Given the description of an element on the screen output the (x, y) to click on. 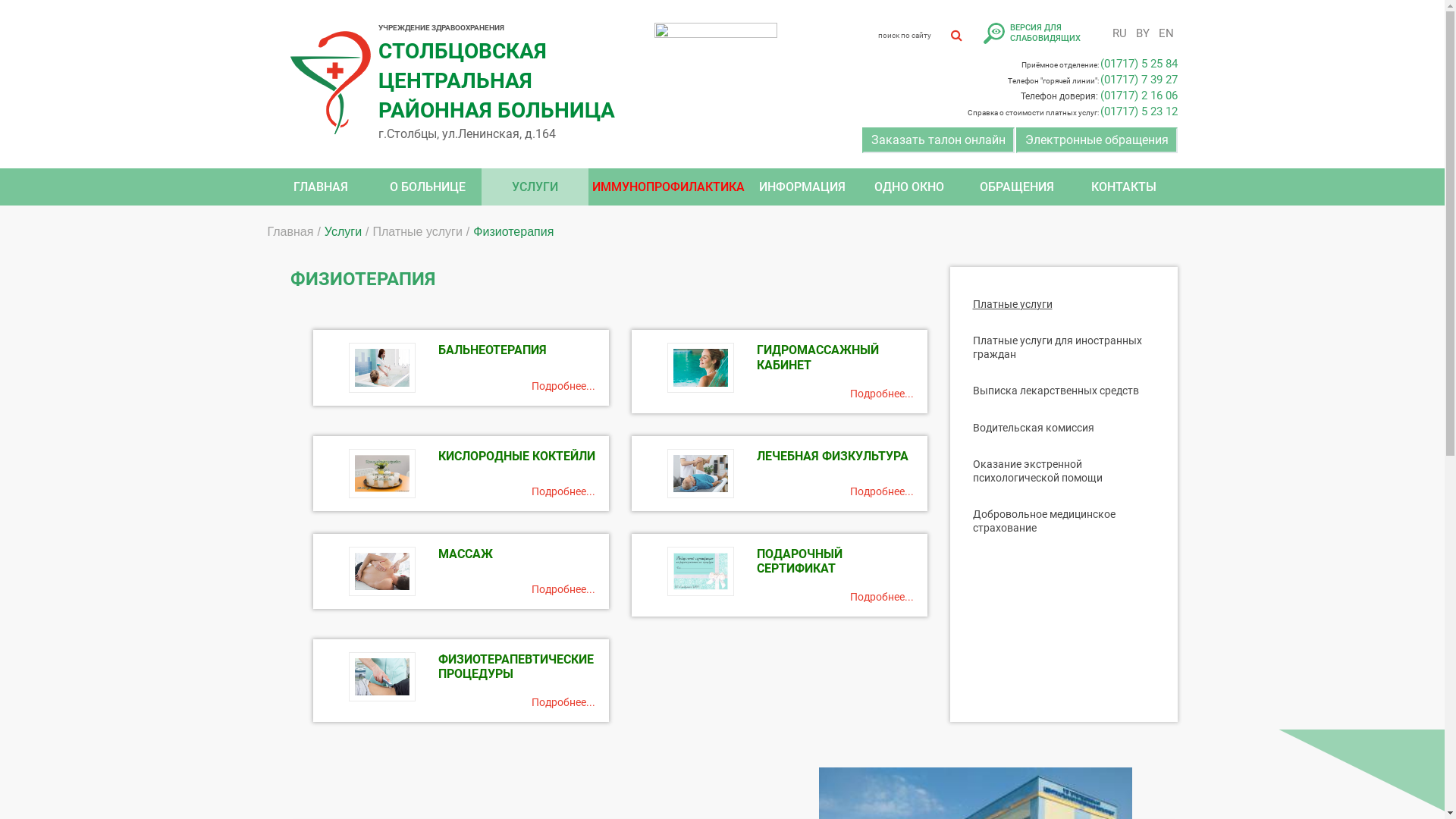
EN Element type: text (1165, 32)
BY Element type: text (1141, 32)
RU Element type: text (1119, 32)
